Given the description of an element on the screen output the (x, y) to click on. 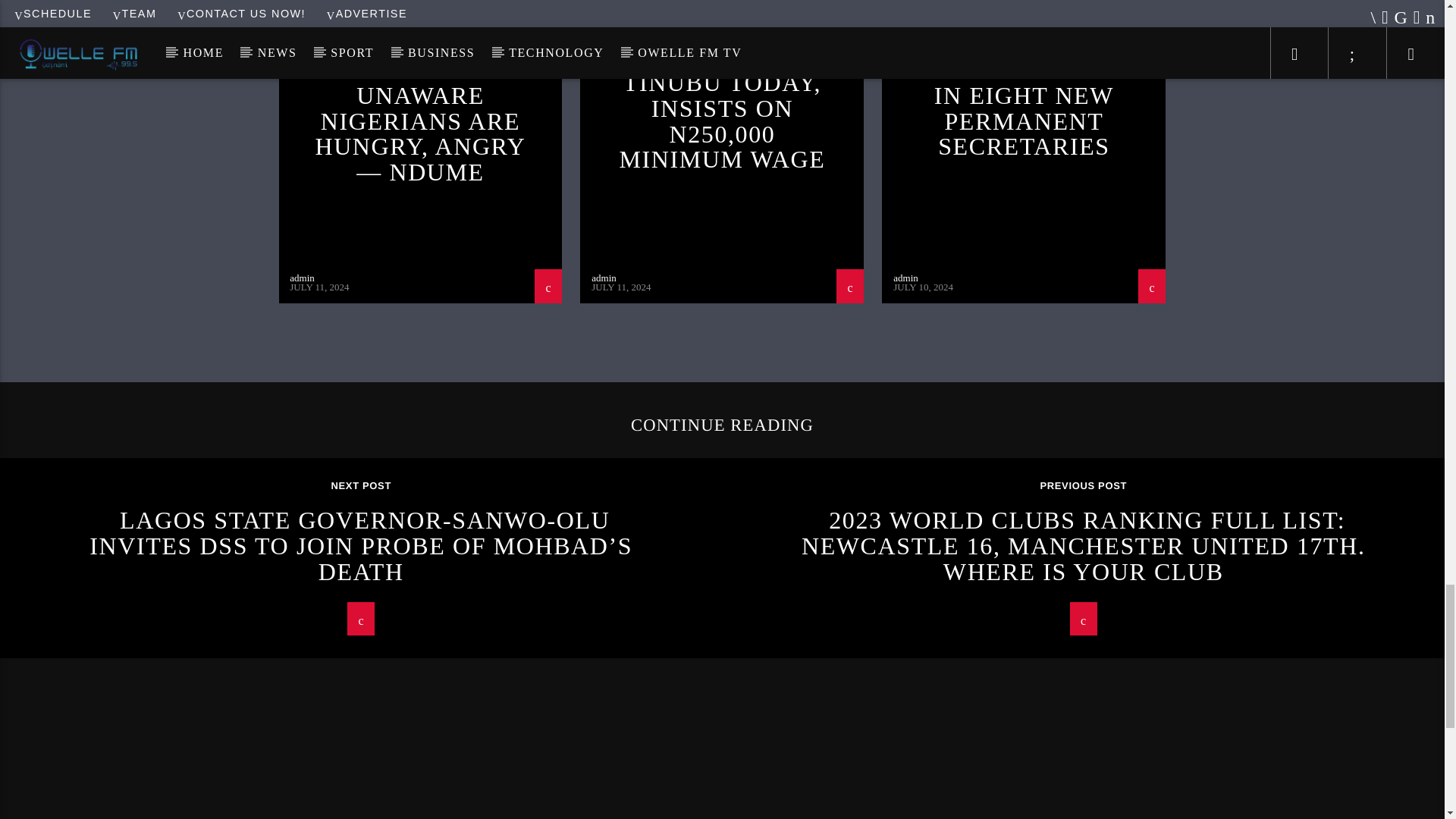
Posts by admin (603, 277)
Posts by admin (301, 277)
Posts by admin (905, 277)
